Given the description of an element on the screen output the (x, y) to click on. 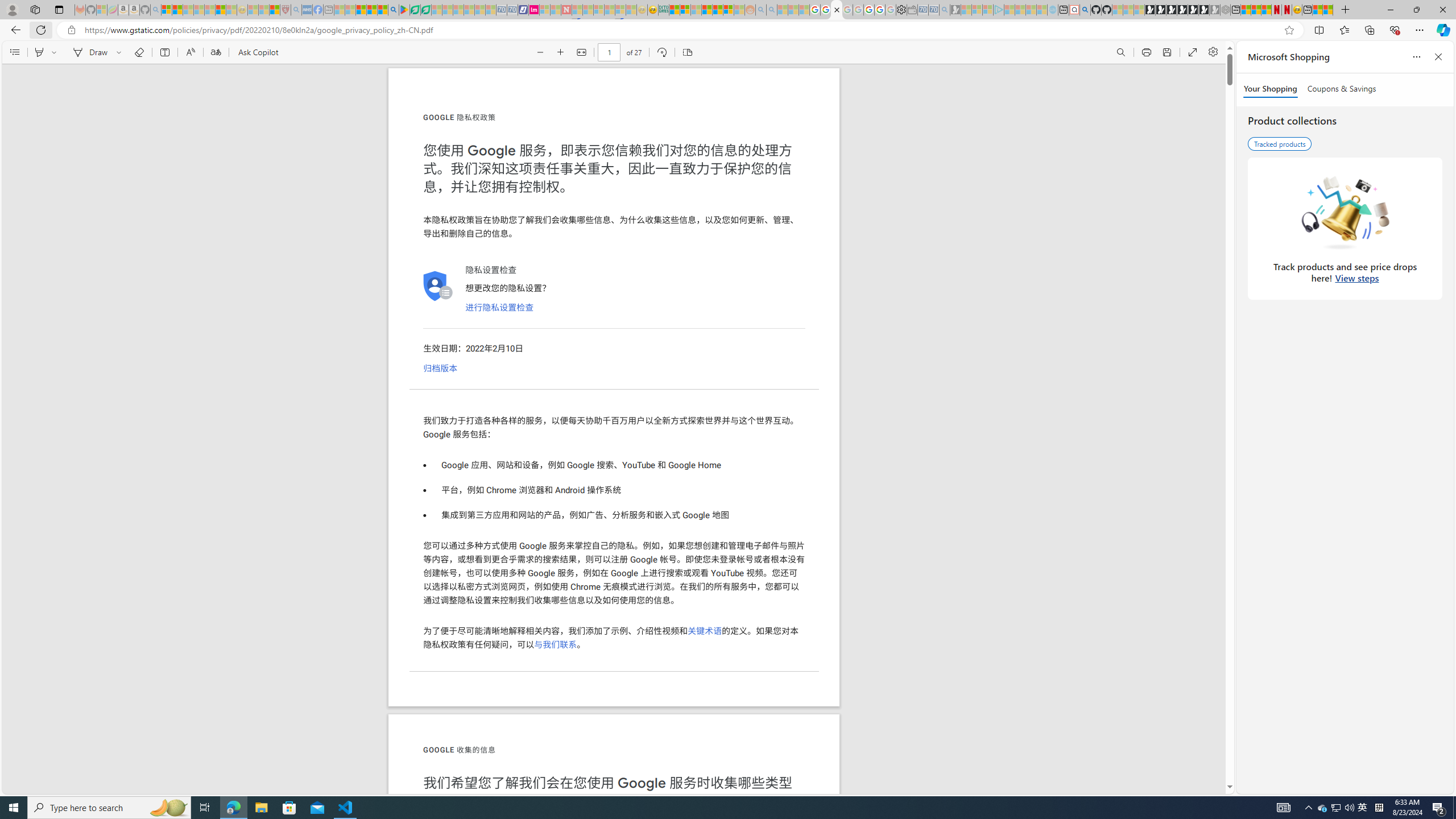
Contents (14, 52)
Pets - MSN (371, 9)
Microsoft Start - Sleeping (1030, 9)
Draw (88, 52)
Save (Ctrl+S) (1166, 52)
Read aloud (189, 52)
Select ink properties (120, 52)
14 Common Myths Debunked By Scientific Facts - Sleeping (588, 9)
